Given the description of an element on the screen output the (x, y) to click on. 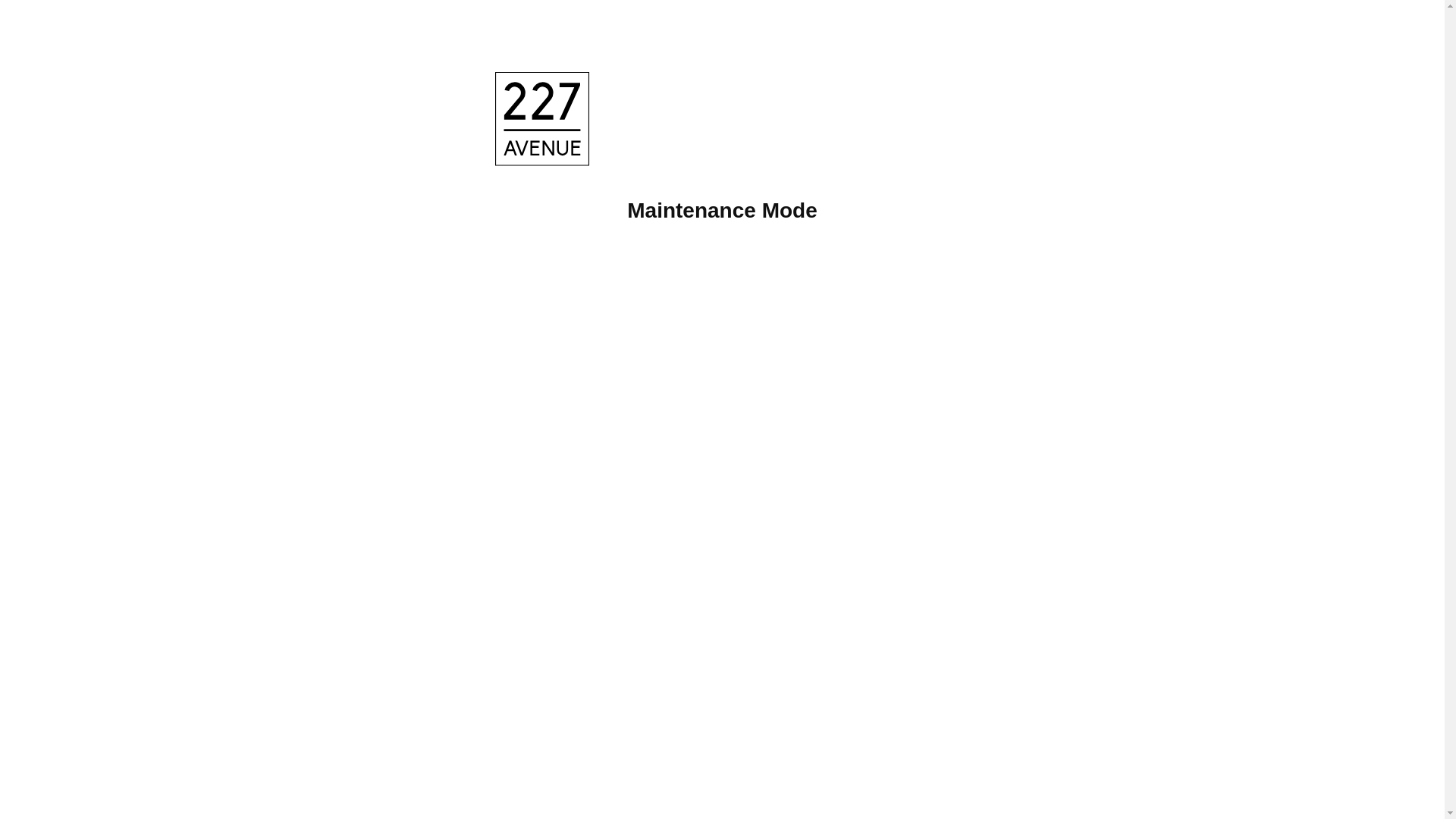
227 Avenue Element type: hover (544, 122)
